Given the description of an element on the screen output the (x, y) to click on. 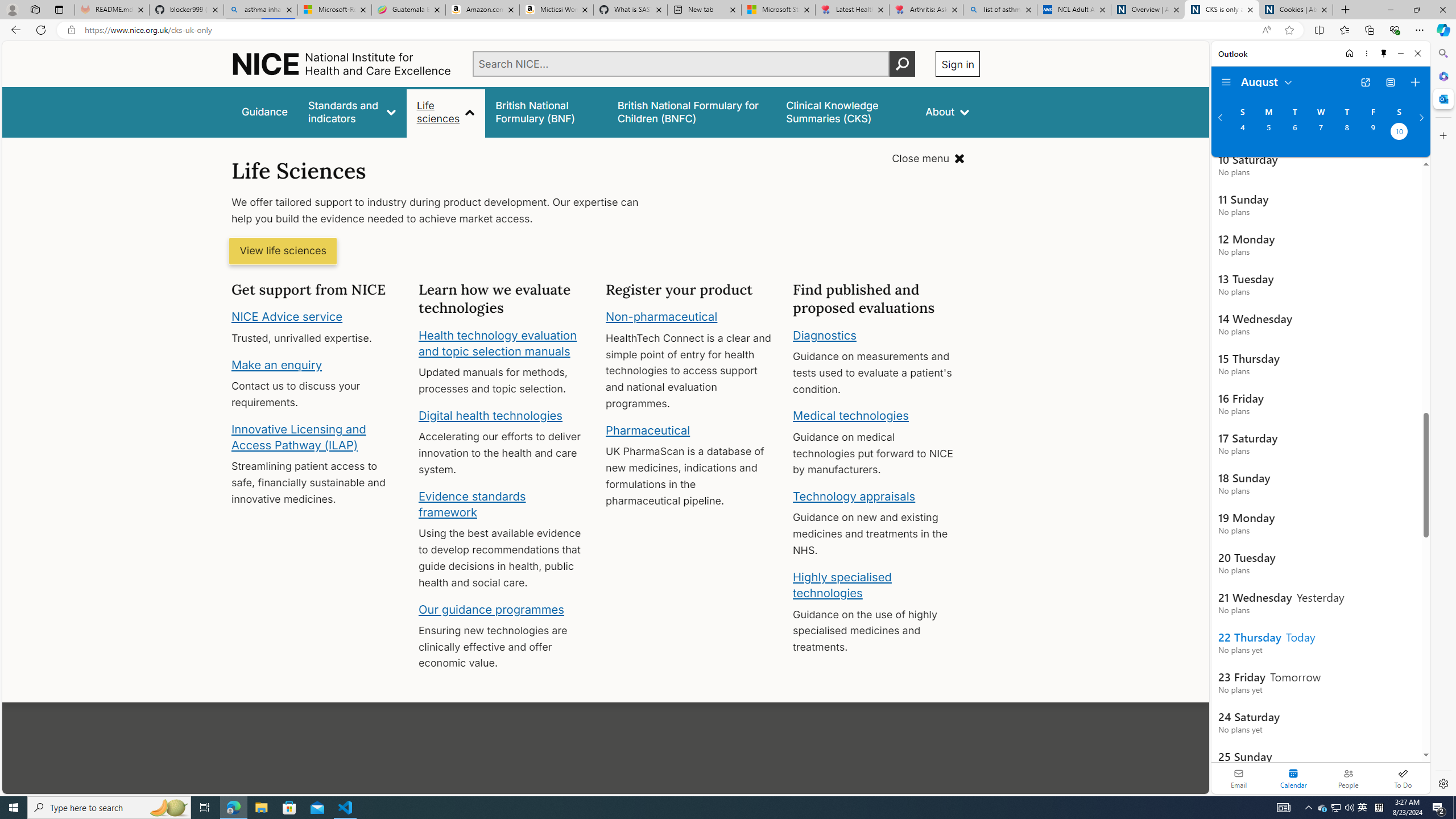
View Switcher. Current view is Agenda view (1390, 82)
Technology appraisals (854, 495)
